Given the description of an element on the screen output the (x, y) to click on. 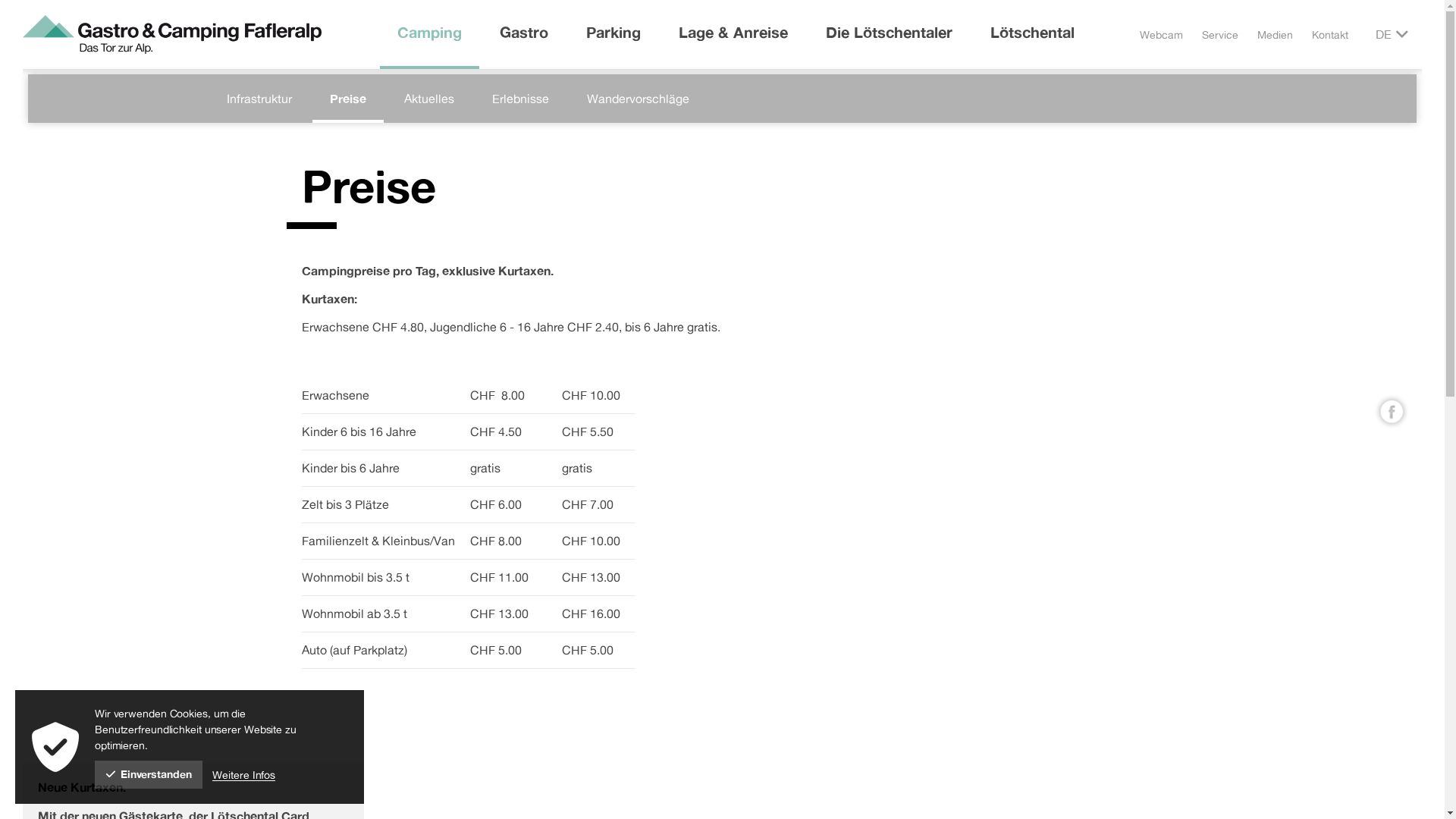
Medien Element type: text (1274, 34)
DE Element type: text (1383, 34)
Einverstanden Element type: text (148, 774)
Parking Element type: text (613, 32)
Kontakt Element type: text (1329, 34)
Weitere Infos Element type: text (243, 774)
Infrastruktur Element type: text (258, 98)
Webcam Element type: text (1161, 34)
Aktuelles Element type: text (429, 98)
Service Element type: text (1219, 34)
Camping Element type: text (429, 32)
Lage & Anreise Element type: text (732, 32)
Preise Element type: text (347, 98)
Gastro Element type: text (523, 32)
Erlebnisse Element type: text (520, 98)
